Given the description of an element on the screen output the (x, y) to click on. 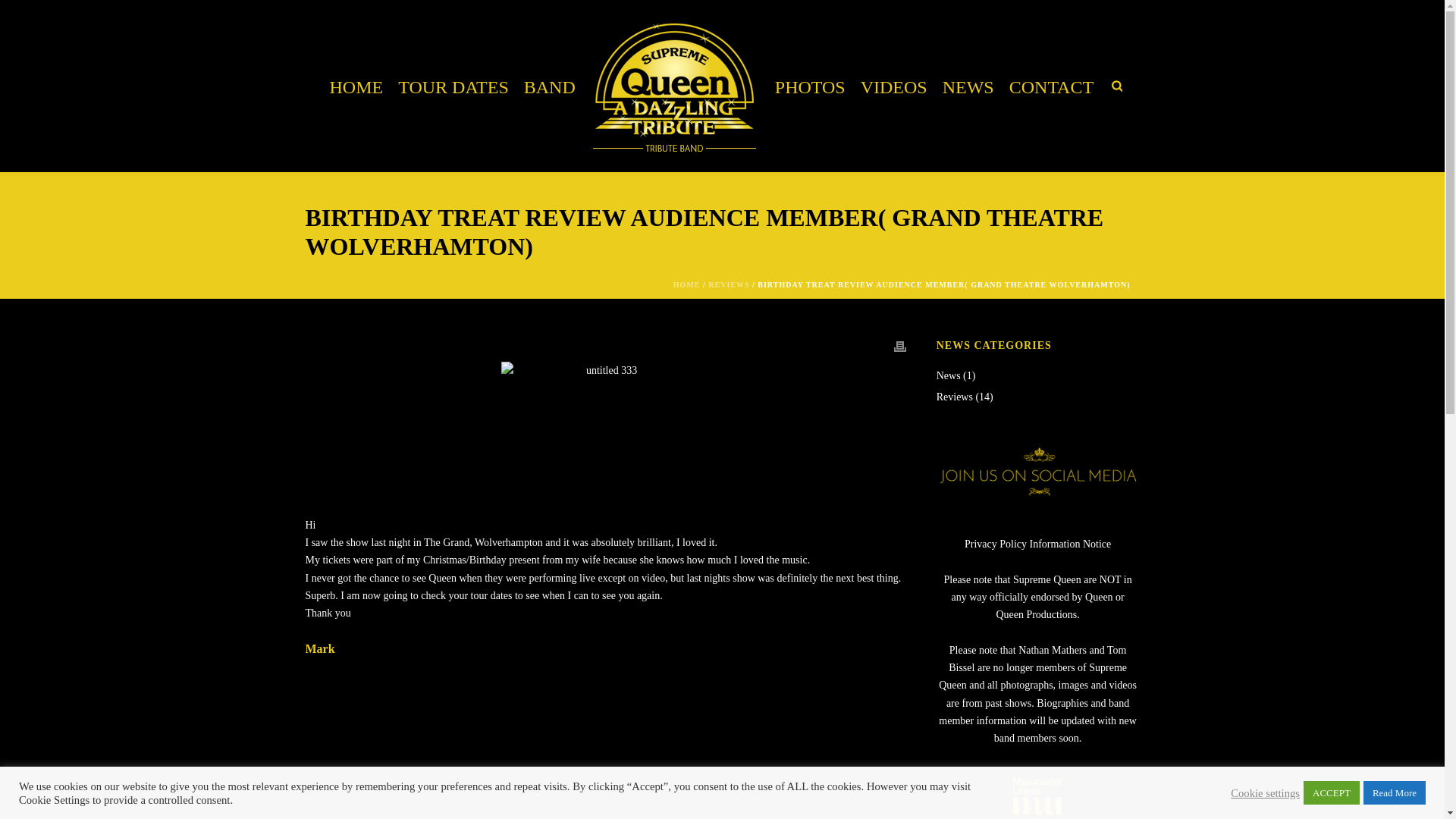
Read More (1393, 792)
ACCEPT (1331, 792)
Cookie settings (1265, 792)
Supreme Queen Tribute Band (675, 85)
Reviews (954, 397)
REVIEWS (728, 284)
News (948, 376)
HOME (686, 284)
Privacy Policy Information Notice (1036, 543)
